Given the description of an element on the screen output the (x, y) to click on. 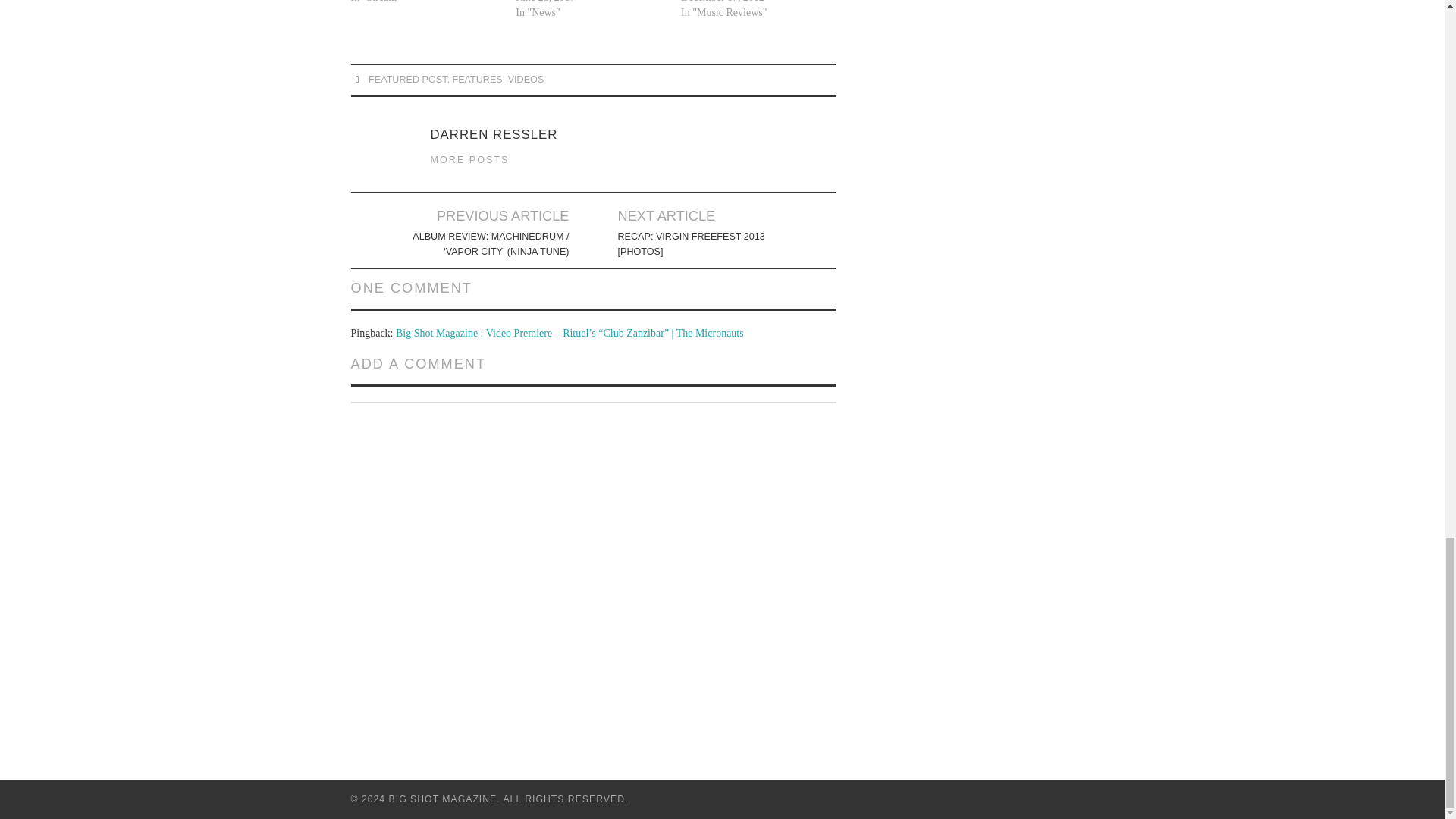
FEATURED POST (407, 79)
FEATURES (476, 79)
VIDEOS (526, 79)
MORE POSTS (469, 159)
